Given the description of an element on the screen output the (x, y) to click on. 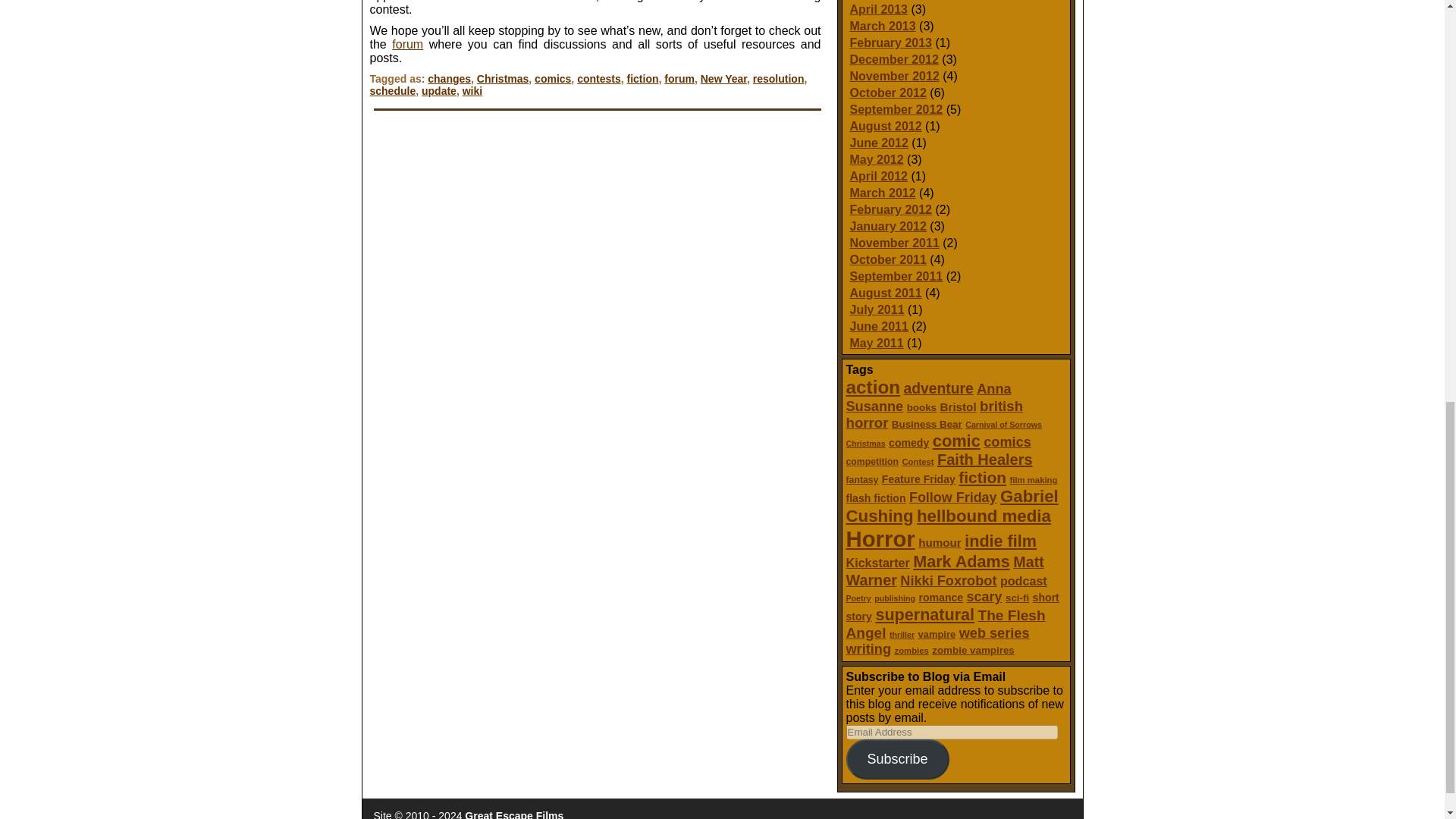
April 2013 (877, 9)
March 2013 (881, 25)
February 2013 (889, 42)
The Great Escape (513, 814)
The Great Escape Forum (407, 43)
